Given the description of an element on the screen output the (x, y) to click on. 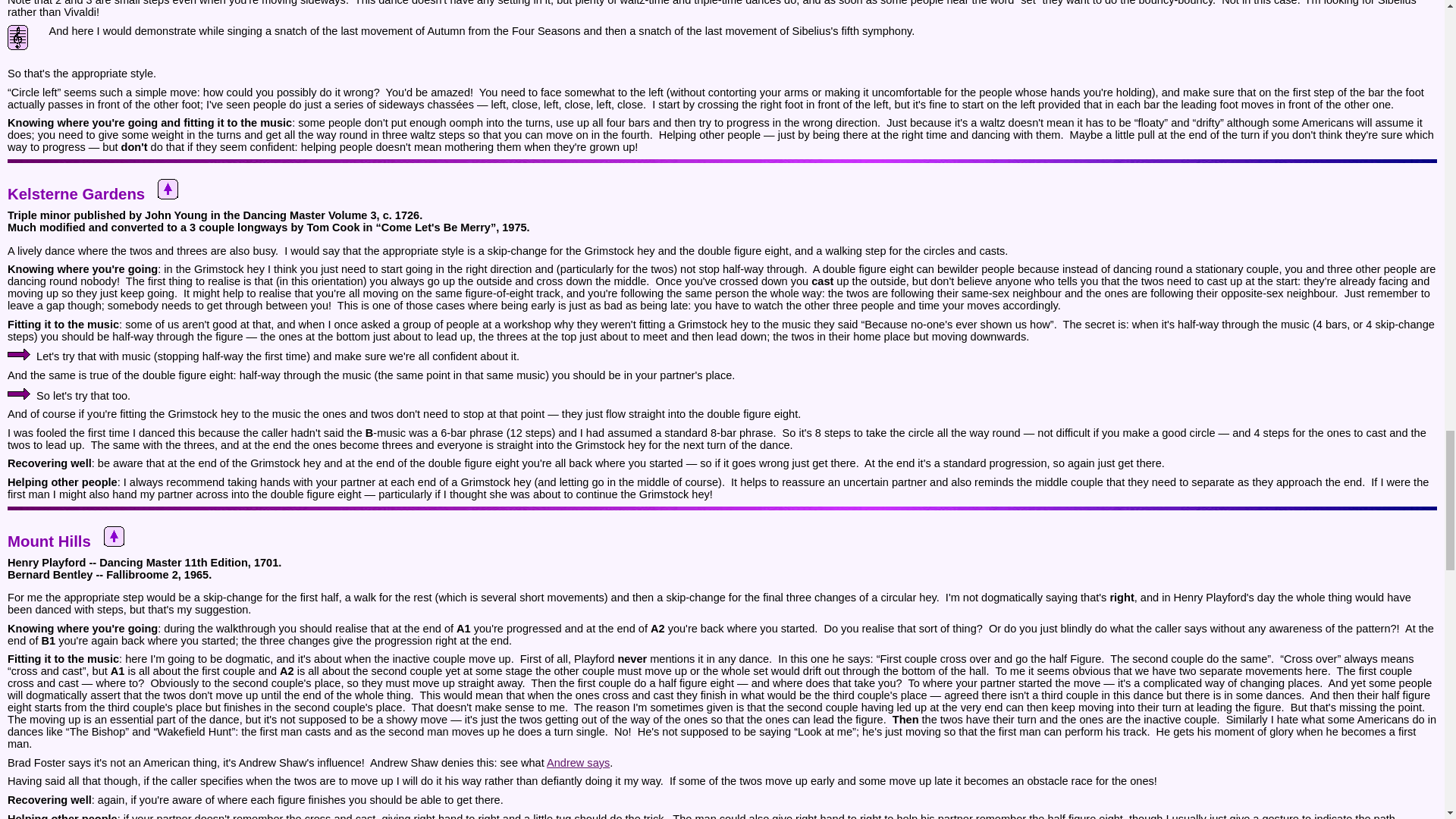
Andrew says (578, 762)
Top of page (113, 536)
Top of page (167, 189)
